Given the description of an element on the screen output the (x, y) to click on. 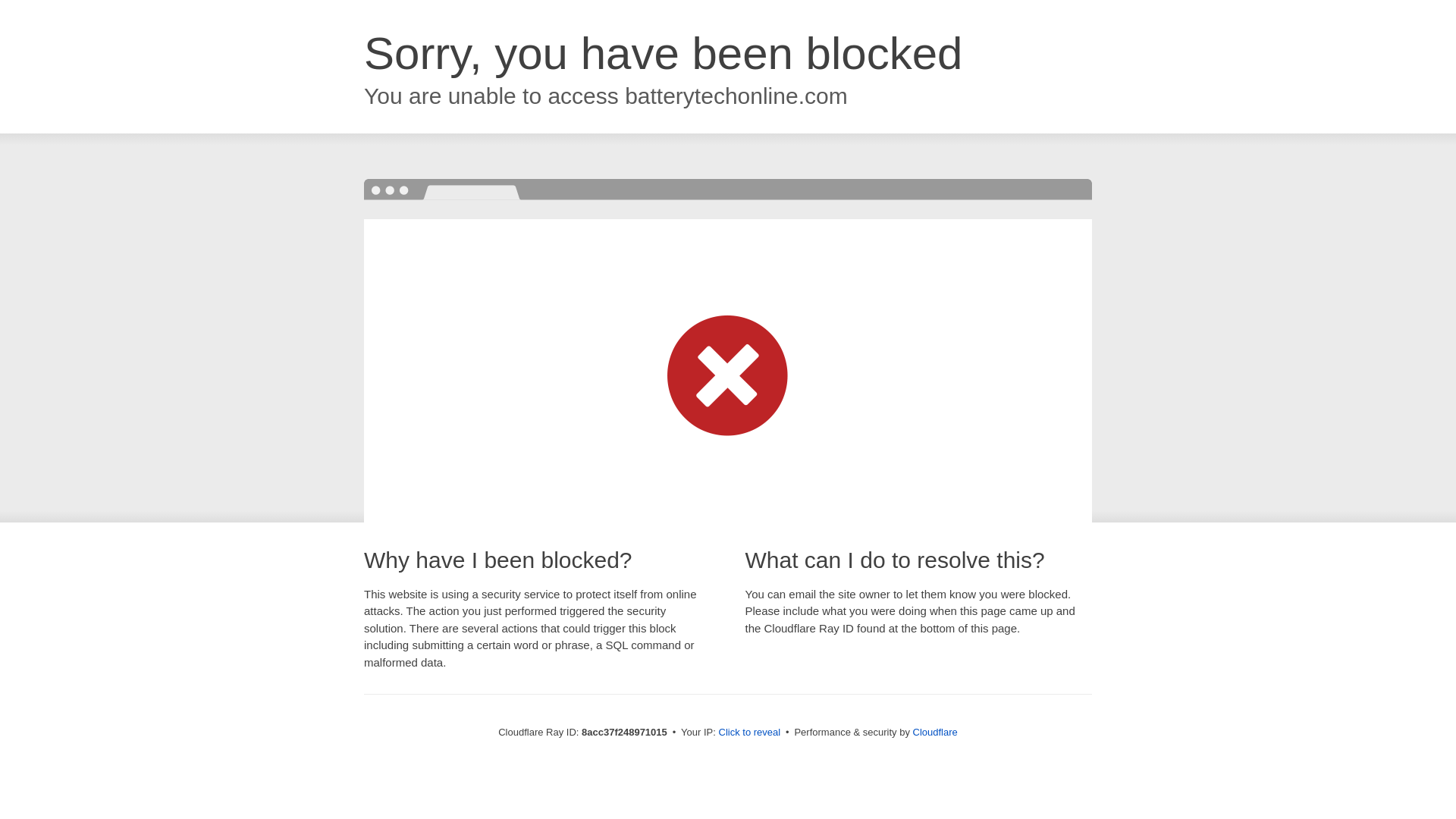
Click to reveal (749, 732)
Cloudflare (935, 731)
